Given the description of an element on the screen output the (x, y) to click on. 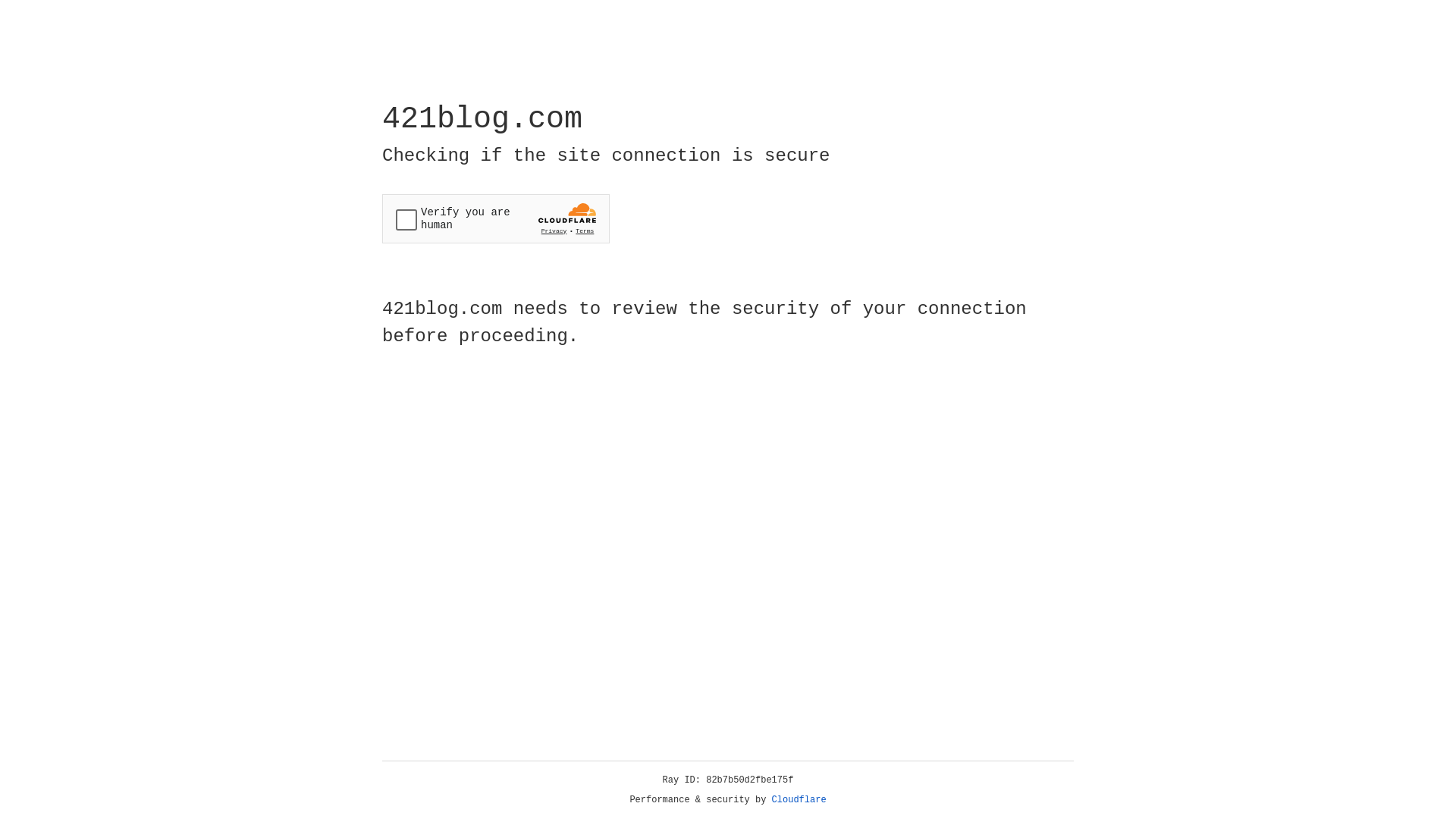
Widget containing a Cloudflare security challenge Element type: hover (495, 218)
Cloudflare Element type: text (798, 799)
